Given the description of an element on the screen output the (x, y) to click on. 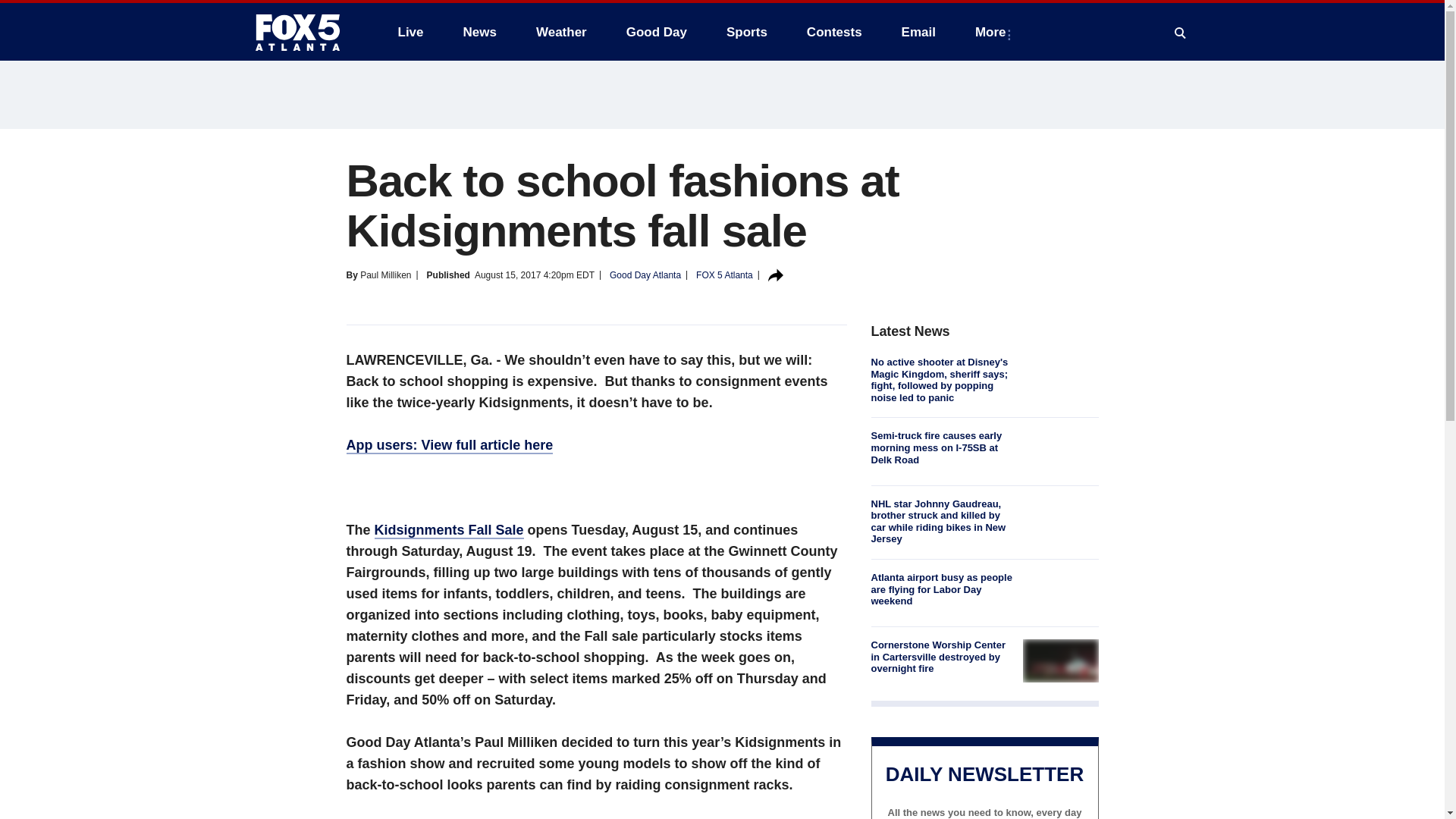
Sports (746, 32)
Contests (834, 32)
More (993, 32)
Good Day (656, 32)
Live (410, 32)
Weather (561, 32)
Email (918, 32)
News (479, 32)
